Given the description of an element on the screen output the (x, y) to click on. 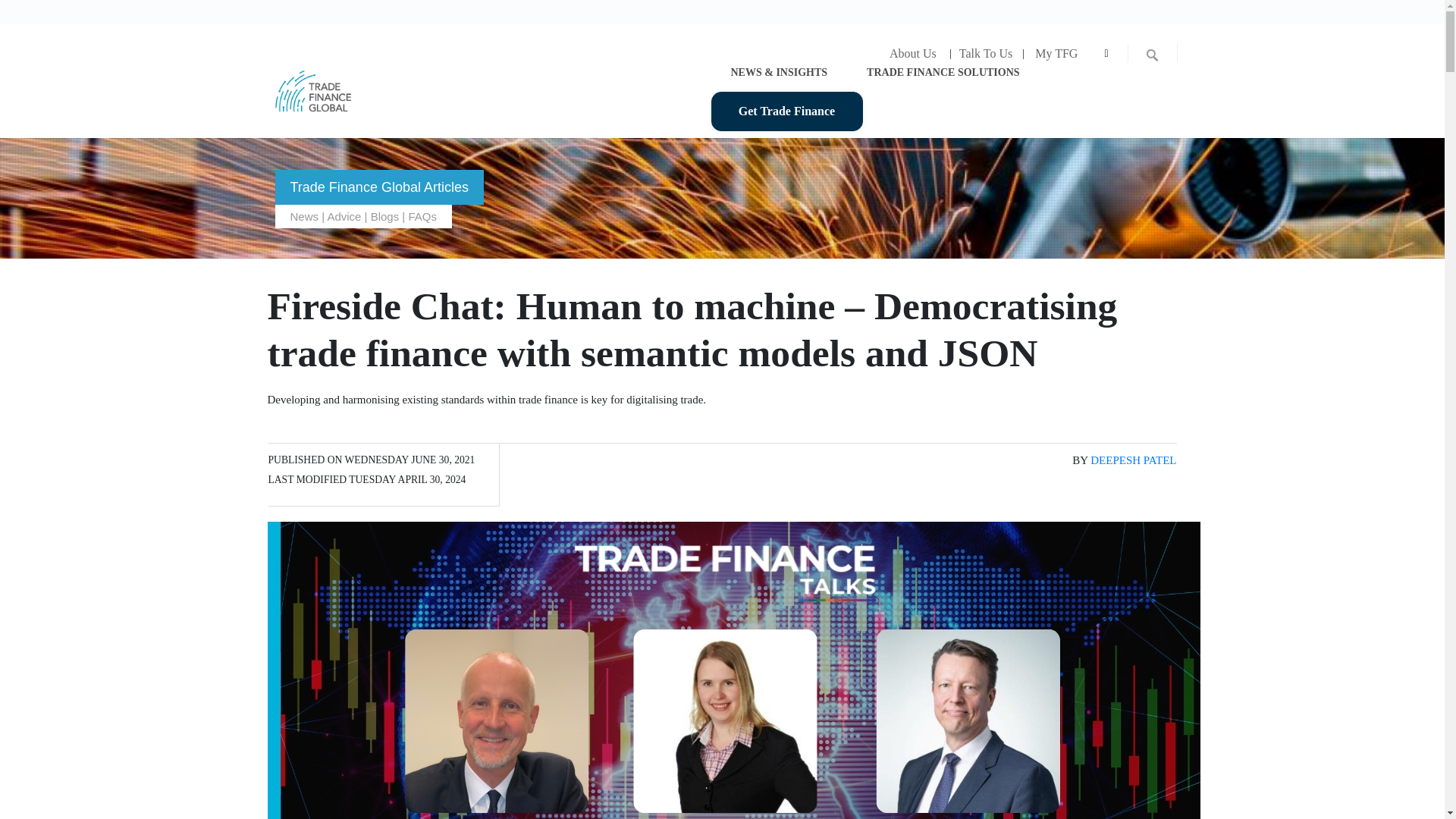
About Us (912, 52)
My TFG (1056, 52)
Search (13, 10)
Talk To Us (985, 52)
Posts by Deepesh Patel (1133, 460)
